Given the description of an element on the screen output the (x, y) to click on. 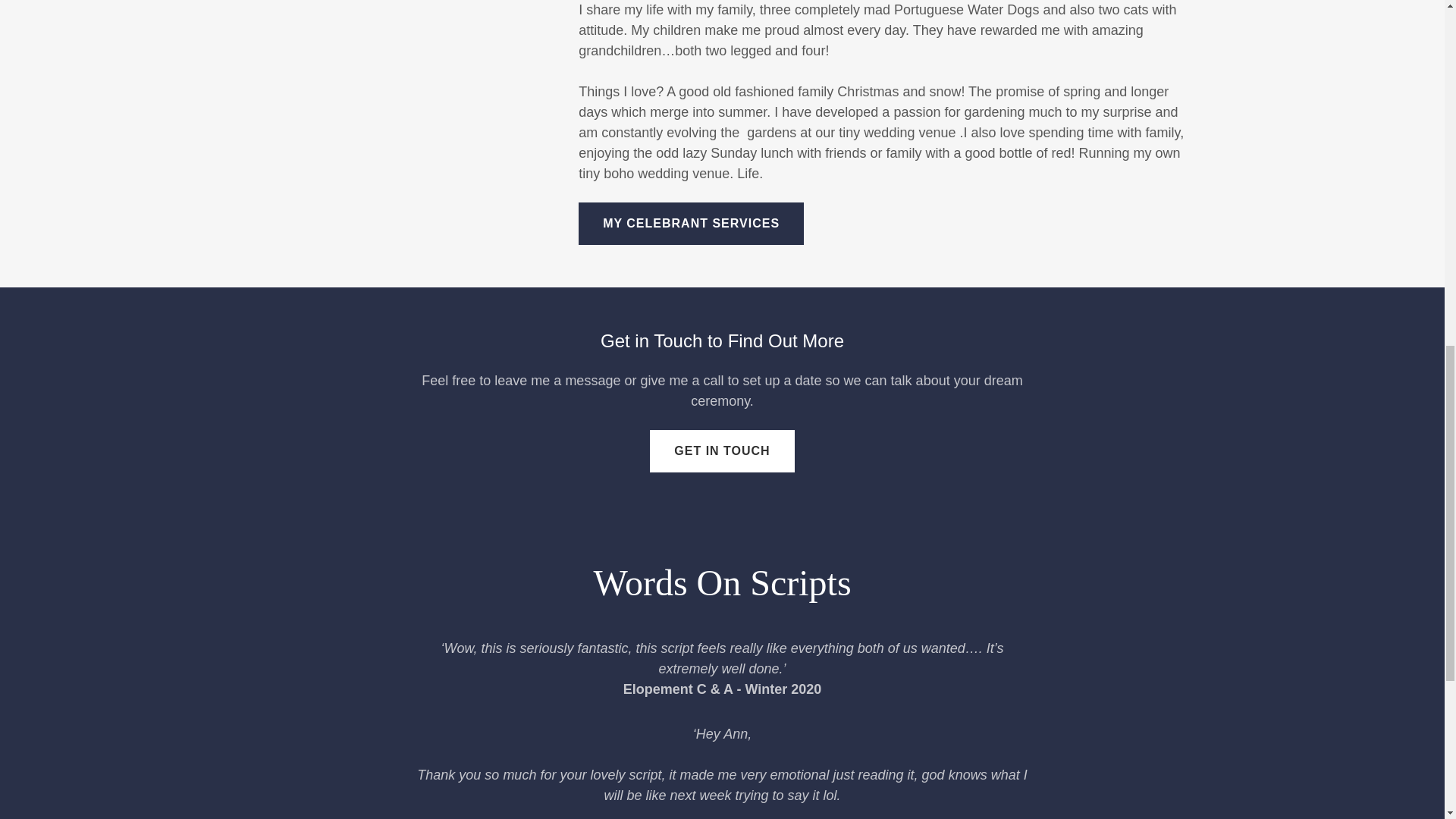
ACCEPT (1345, 324)
GET IN TOUCH (721, 450)
MY CELEBRANT SERVICES (690, 223)
DECLINE (1203, 324)
